Given the description of an element on the screen output the (x, y) to click on. 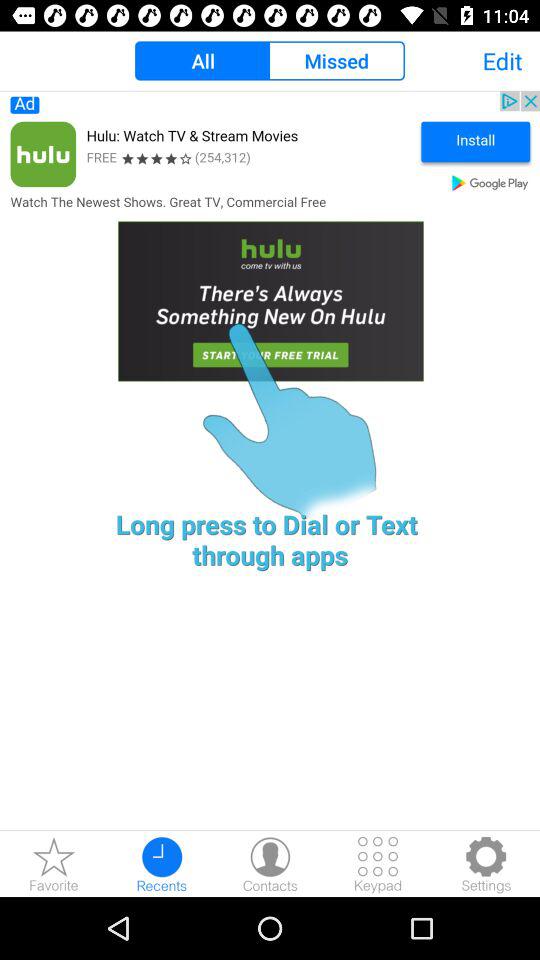
see recent publications (161, 864)
